Given the description of an element on the screen output the (x, y) to click on. 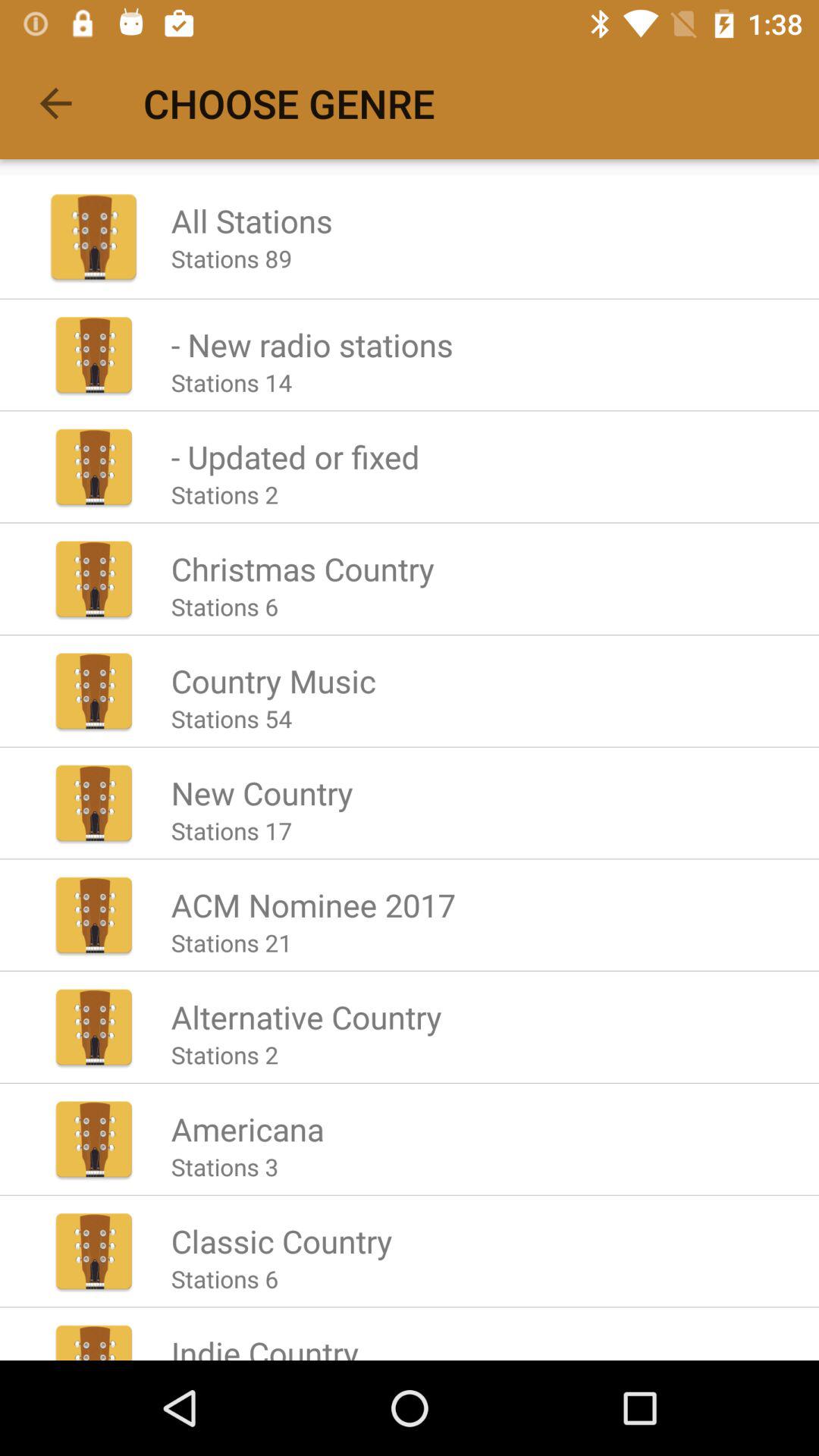
press stations 14 icon (231, 382)
